Given the description of an element on the screen output the (x, y) to click on. 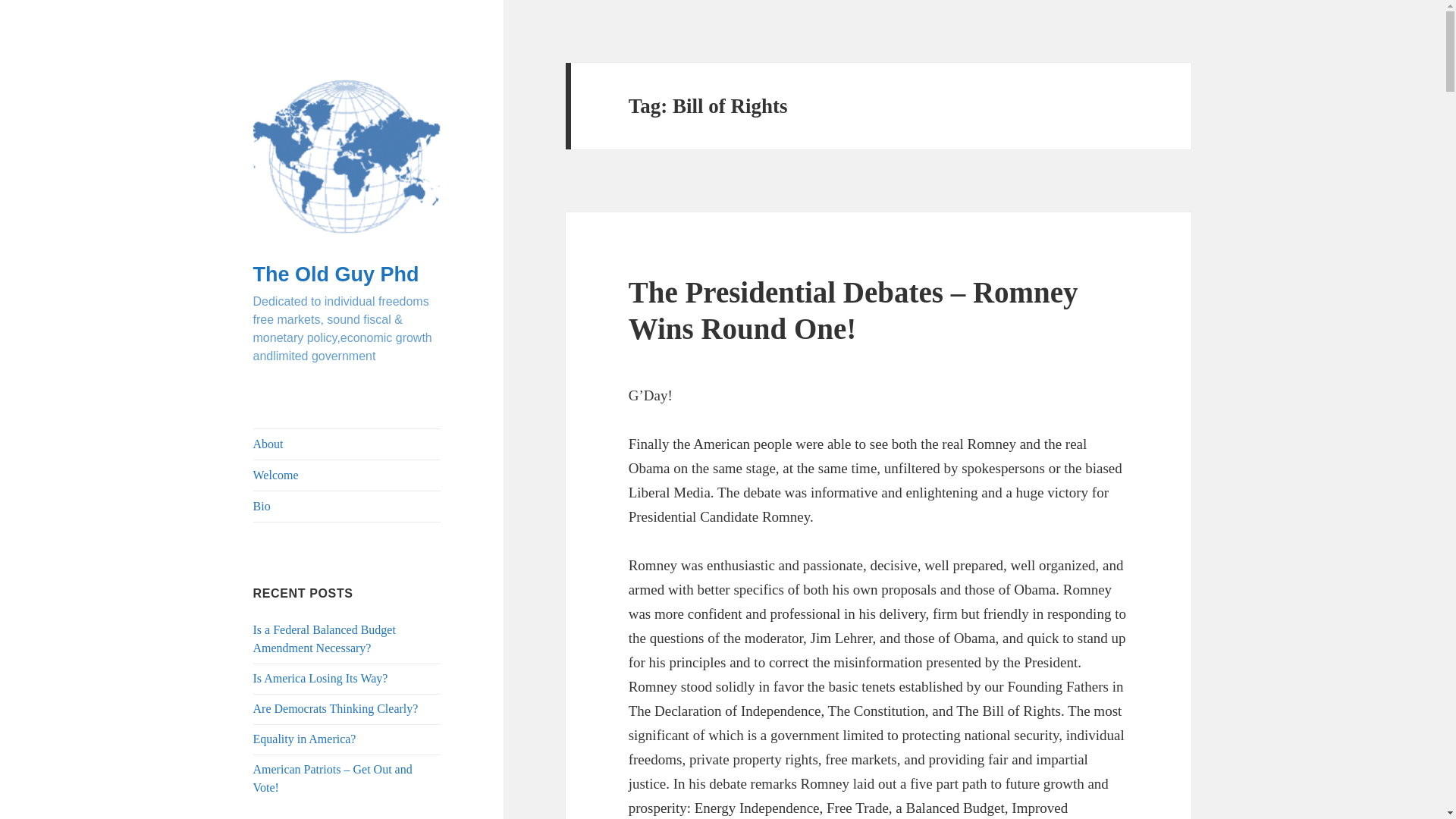
Is a Federal Balanced Budget Amendment Necessary? (324, 638)
The Old Guy Phd (336, 273)
Is America Losing Its Way? (320, 677)
Bio (347, 506)
Equality in America? (304, 738)
Welcome (347, 475)
Are Democrats Thinking Clearly? (336, 707)
About (347, 444)
